Given the description of an element on the screen output the (x, y) to click on. 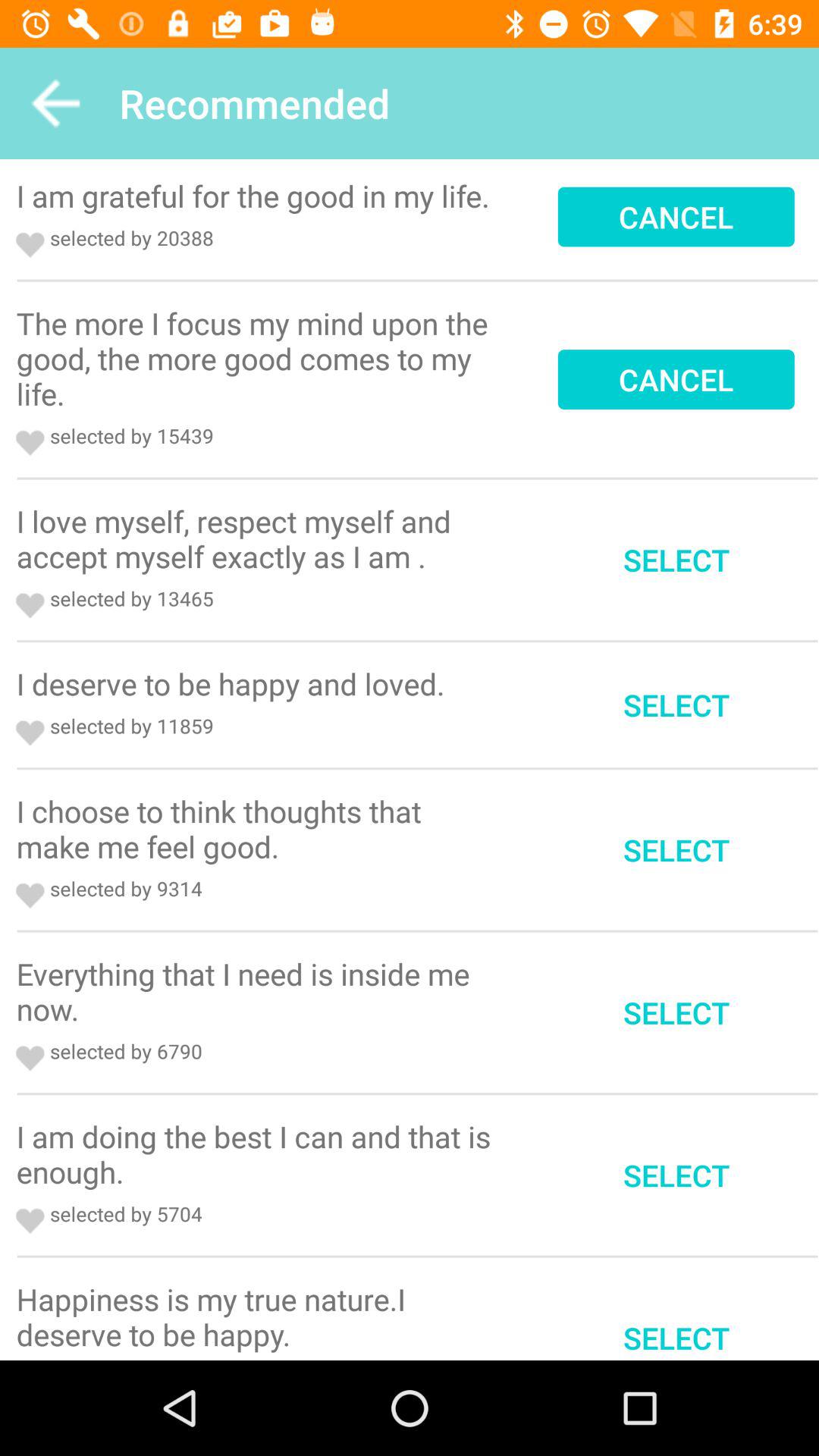
choose the i love myself icon (258, 538)
